Given the description of an element on the screen output the (x, y) to click on. 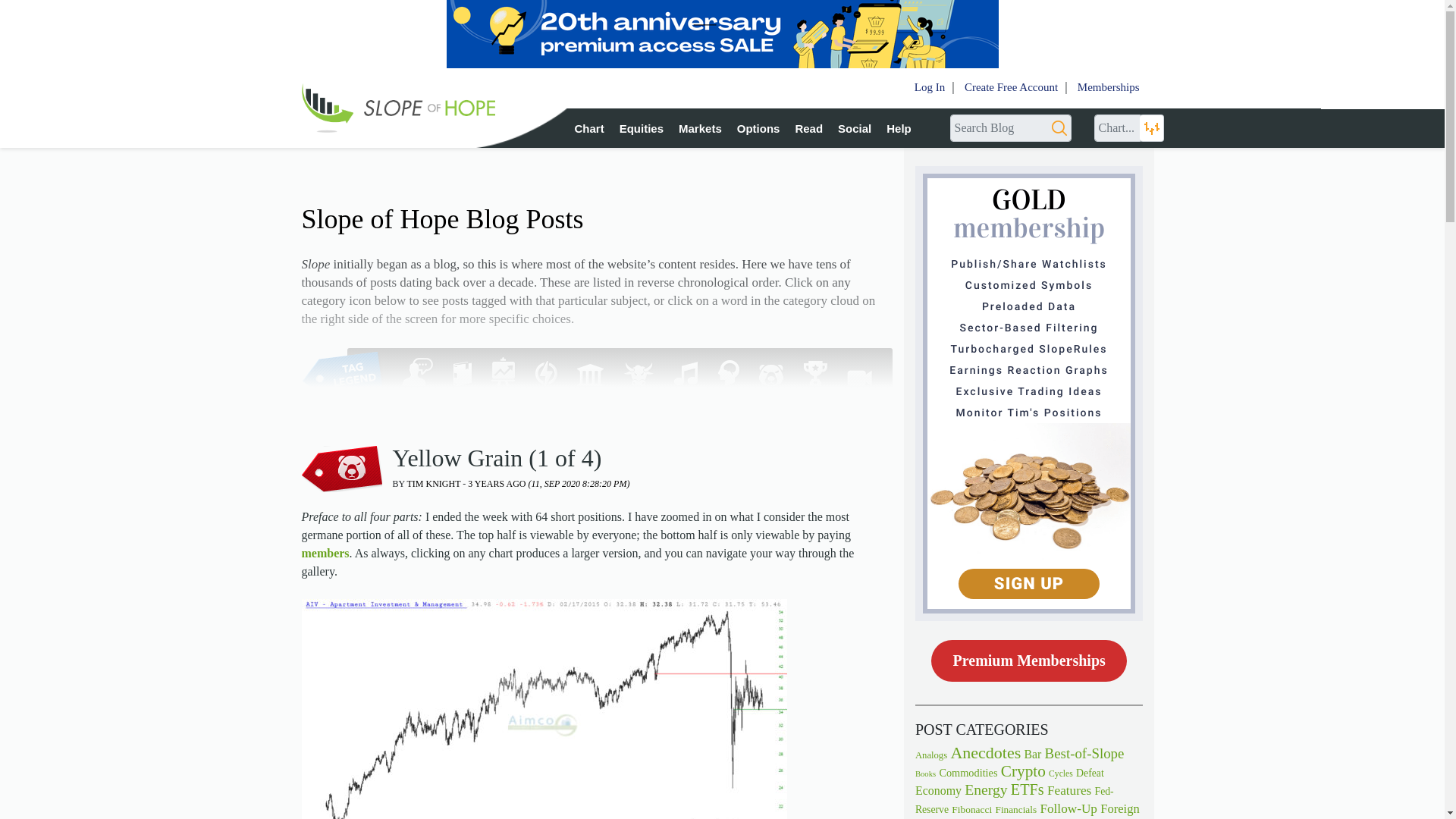
3 years ago (547, 482)
Chart (589, 128)
View all posts by Tim Knight (434, 482)
